Given the description of an element on the screen output the (x, y) to click on. 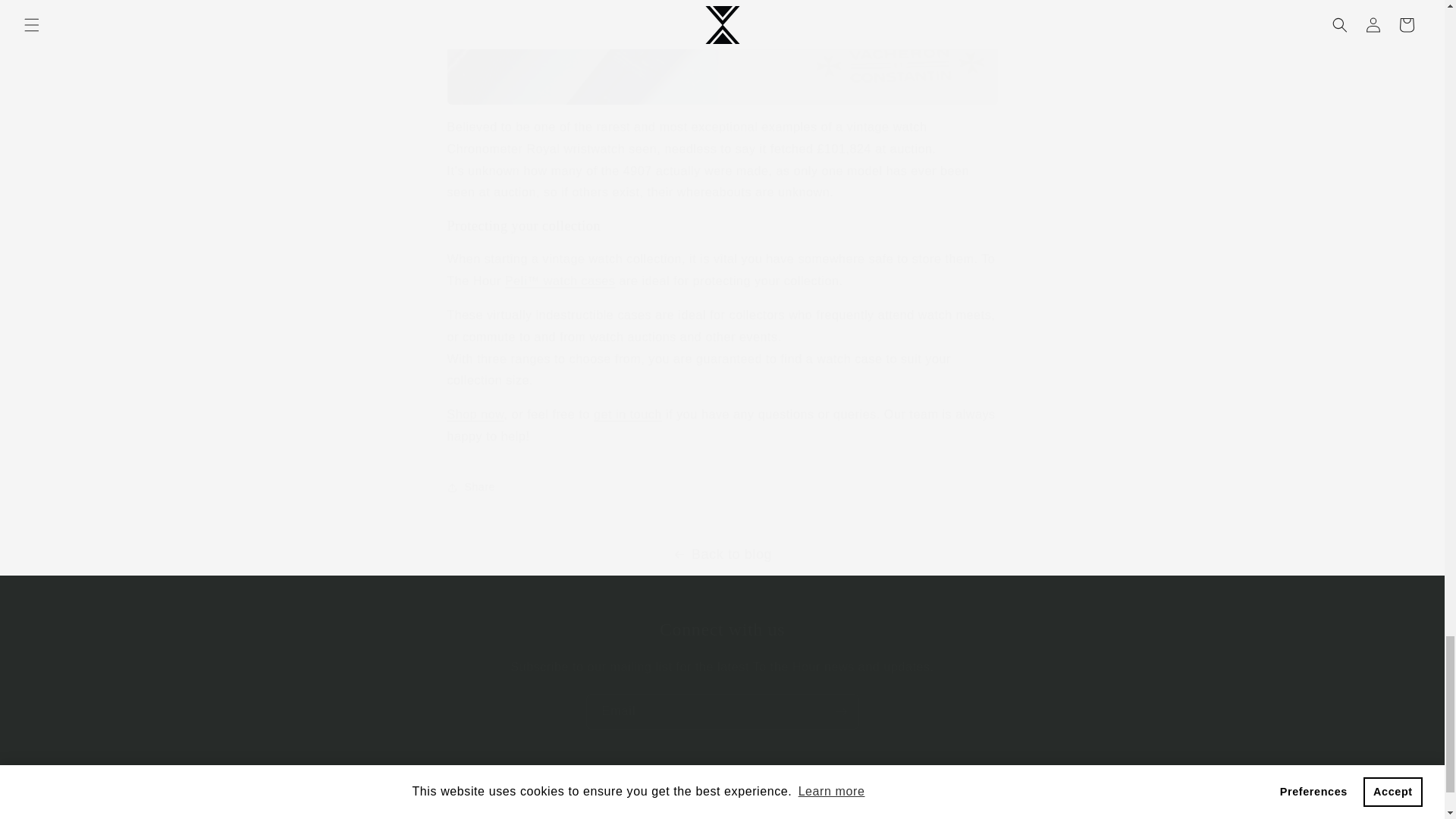
Share (721, 487)
Connect with us (721, 629)
Email (722, 711)
